Given the description of an element on the screen output the (x, y) to click on. 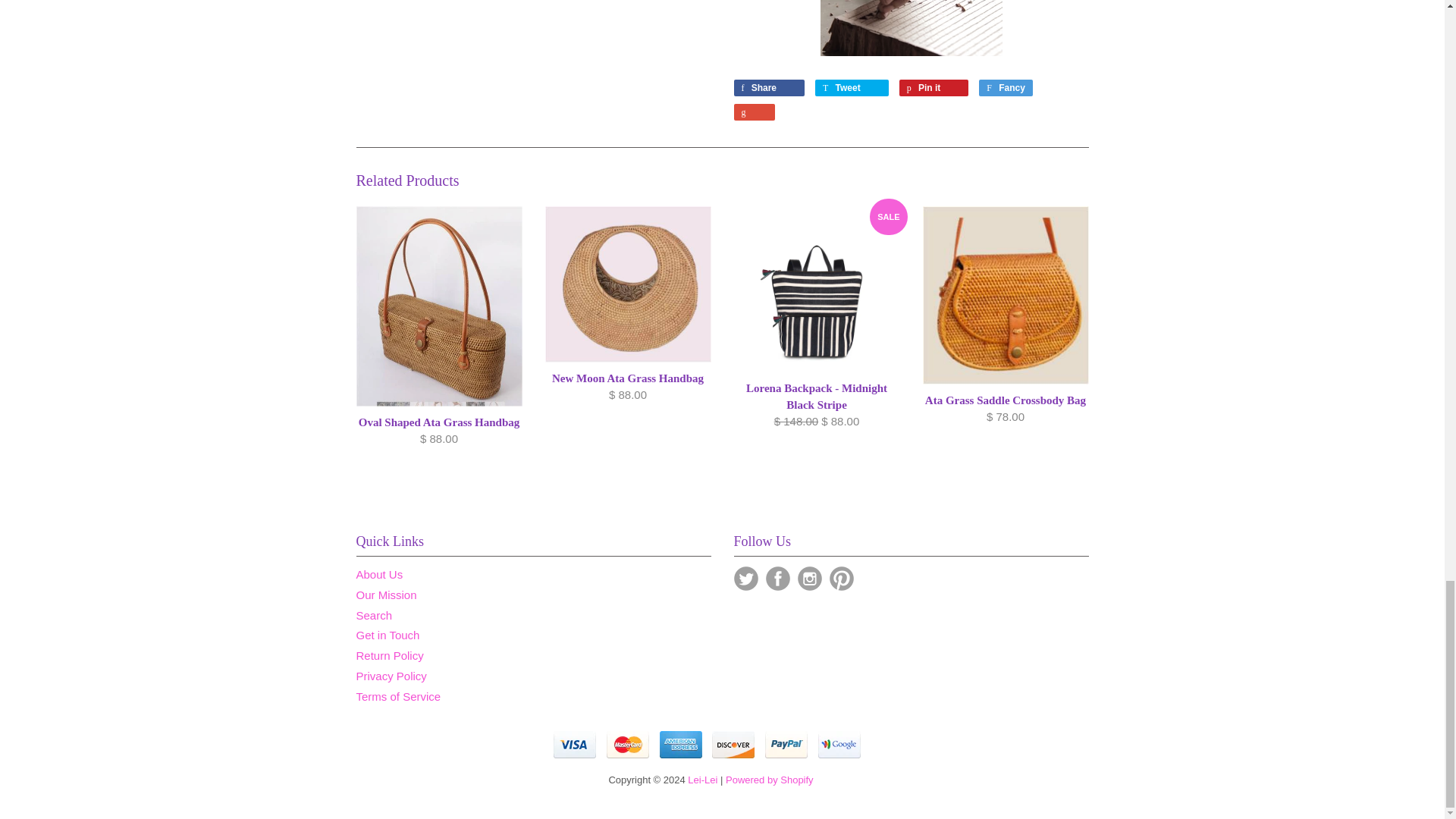
Our Mission (386, 594)
Return Policy (389, 655)
Lei-Lei on Twitter (745, 578)
Lei-Lei on Facebook (777, 578)
Get in Touch (388, 634)
Search (374, 615)
Lei-Lei on Pinterest (841, 578)
Terms of Service (398, 696)
About Us (379, 574)
Lei-Lei on Instagram (809, 578)
Privacy Policy (391, 675)
